Given the description of an element on the screen output the (x, y) to click on. 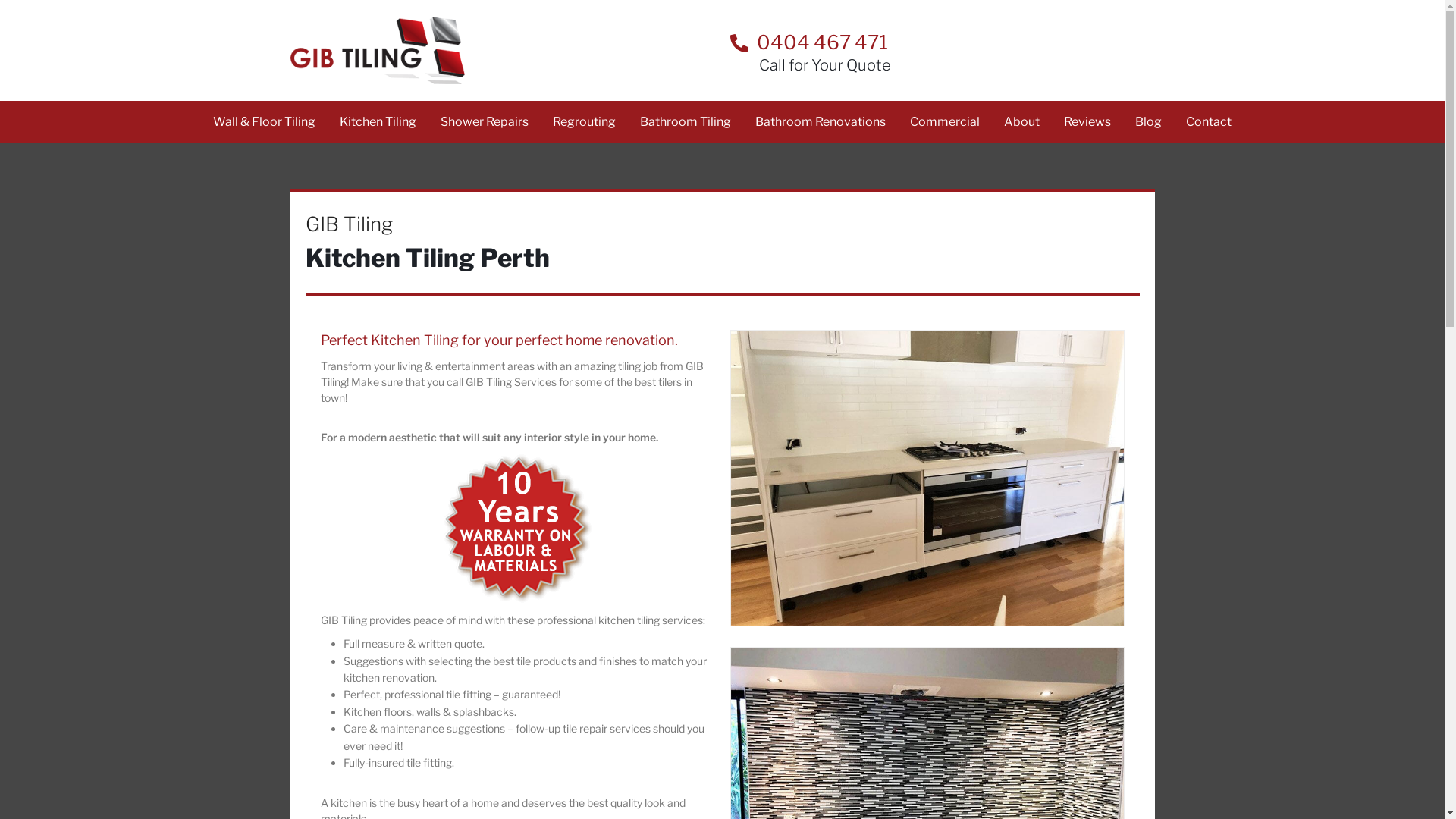
Blog Element type: text (1148, 121)
Reviews Element type: text (1087, 121)
Bathroom Renovations Element type: text (820, 121)
Bathroom Tiling Element type: text (685, 121)
About Element type: text (1021, 121)
0404 467 471 Element type: text (937, 42)
Regrouting Element type: text (583, 121)
Contact Element type: text (1208, 121)
Shower Repairs Element type: text (484, 121)
Kitchen Tiling Element type: text (377, 121)
Commercial Element type: text (944, 121)
Wall & Floor Tiling Element type: text (263, 121)
